Given the description of an element on the screen output the (x, y) to click on. 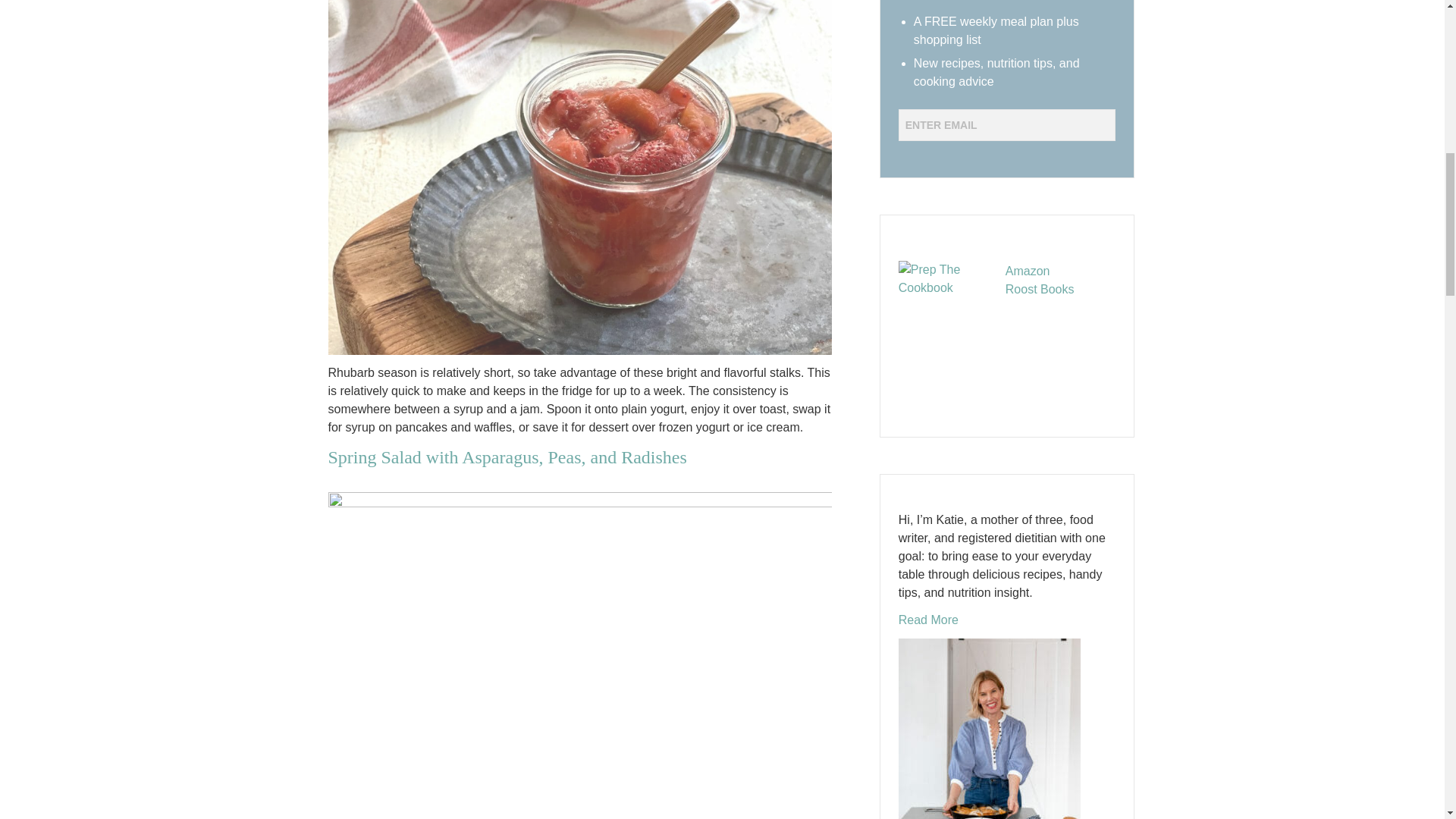
Roost Books (1040, 288)
Read More (928, 619)
Spring Salad with Asparagus, Peas, and Radishes (506, 456)
Subscribe (945, 155)
Subscribe (945, 155)
Amazon (1027, 270)
